Given the description of an element on the screen output the (x, y) to click on. 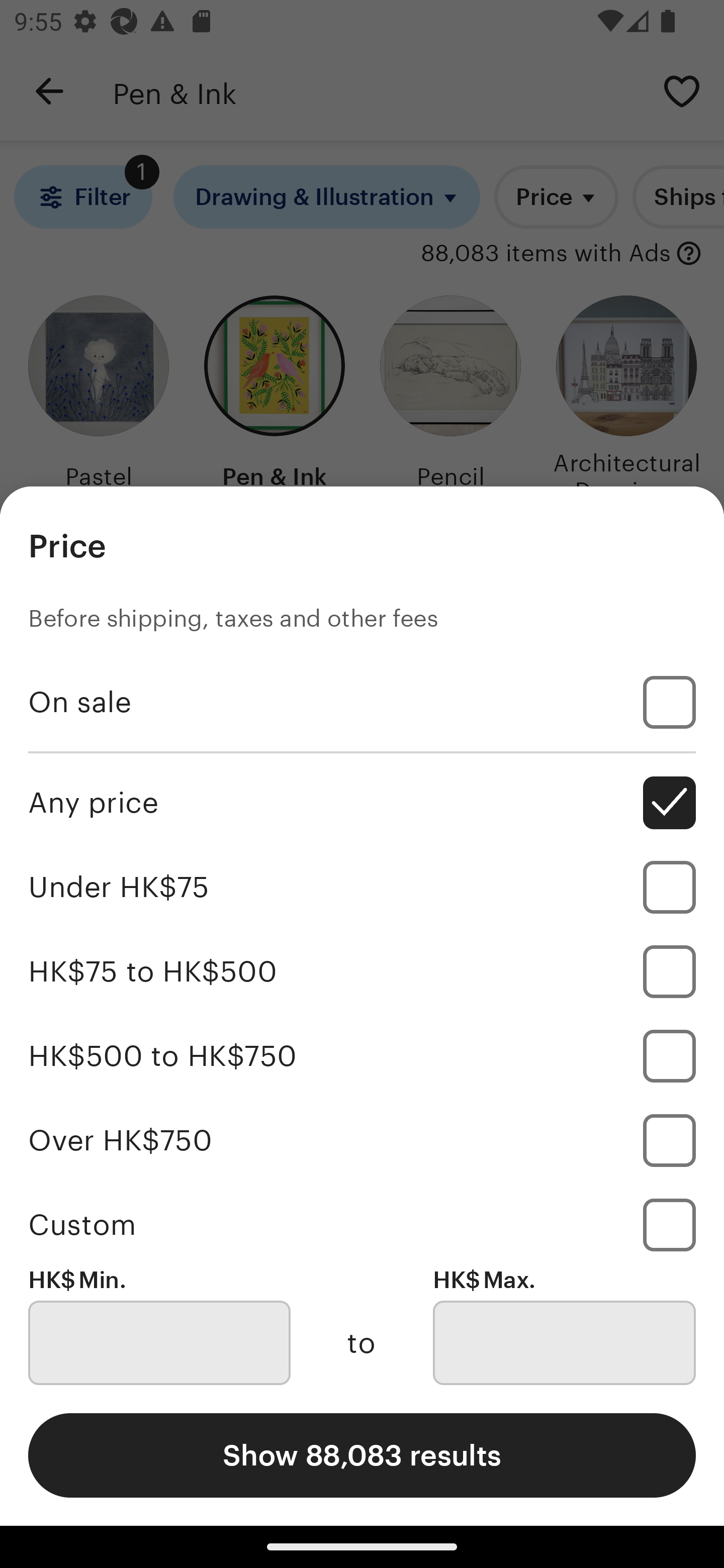
On sale (362, 702)
Any price (362, 802)
Under HK$75 (362, 887)
HK$75 to HK$500 (362, 970)
HK$500 to HK$750 (362, 1054)
Over HK$750 (362, 1139)
Custom (362, 1224)
Show 88,083 results (361, 1454)
